Given the description of an element on the screen output the (x, y) to click on. 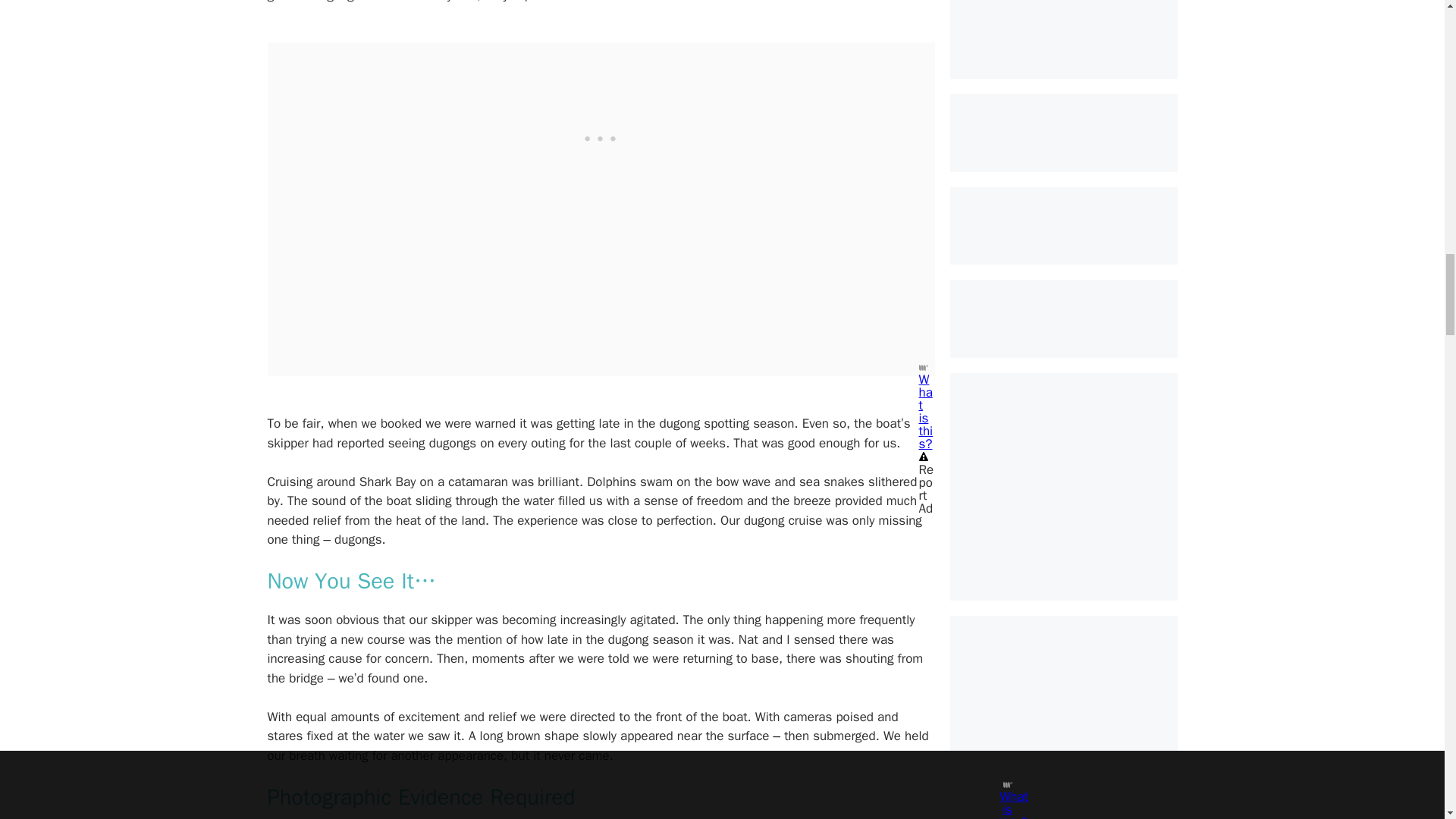
3rd party ad content (600, 136)
